Given the description of an element on the screen output the (x, y) to click on. 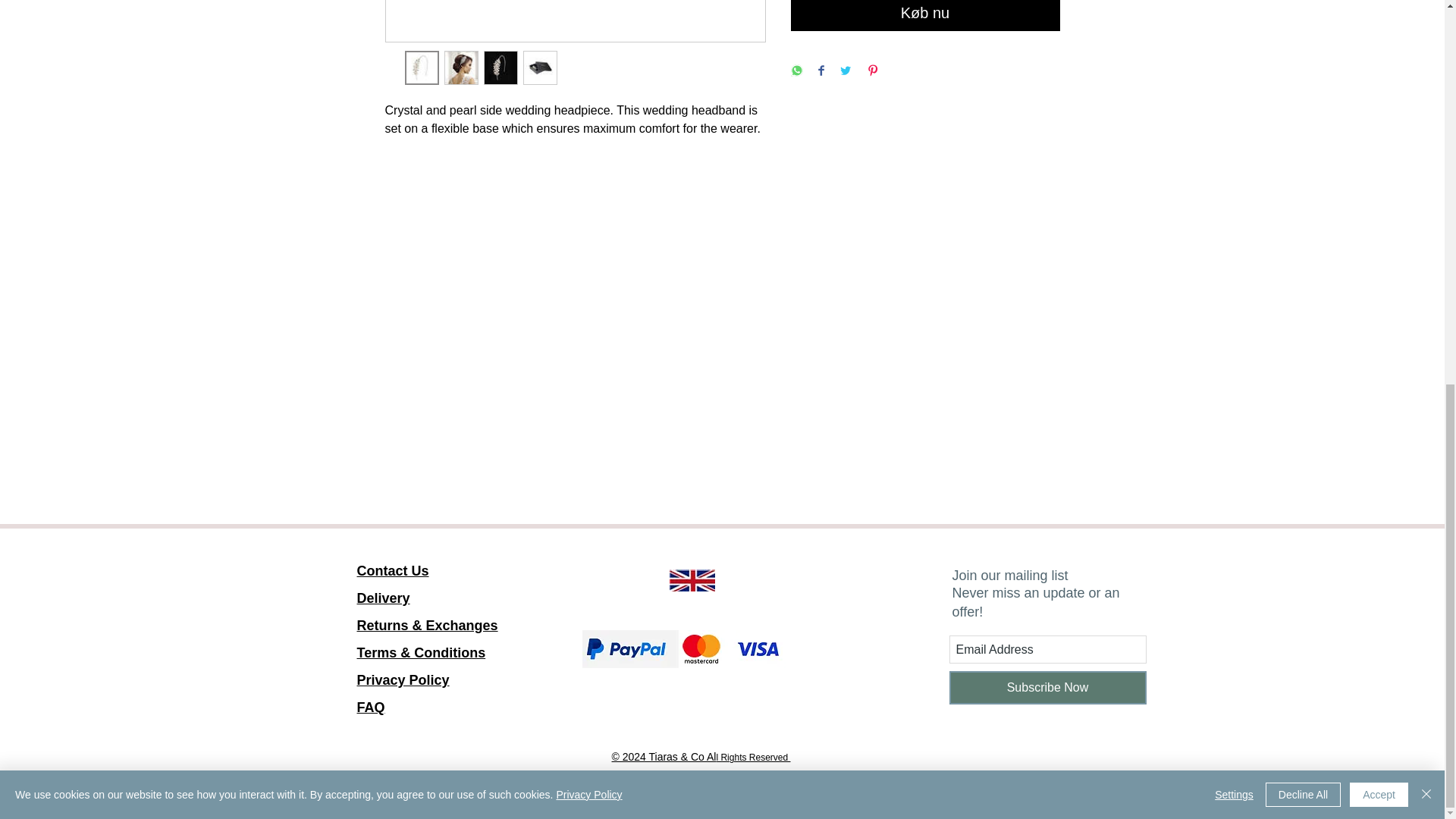
Delivery (382, 598)
Accept (1378, 71)
F (691, 580)
Privacy Policy (402, 693)
Contact Us (588, 71)
Subscribe Now (392, 570)
